Given the description of an element on the screen output the (x, y) to click on. 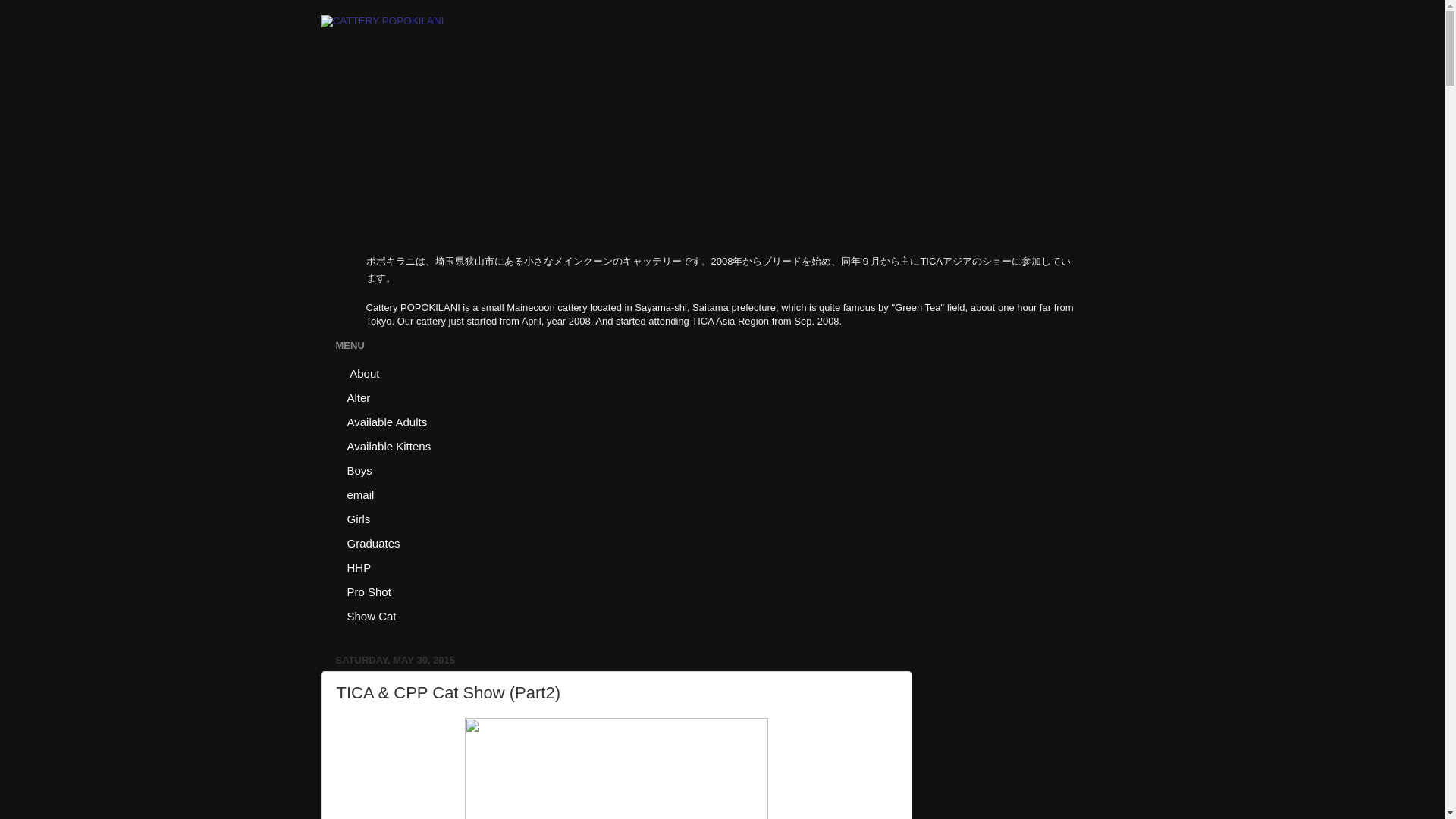
Graduates (373, 542)
Available Adults (386, 421)
HHP (358, 567)
Boys (359, 469)
Show Cat (370, 615)
email (359, 494)
Available Kittens (388, 445)
Alter (357, 396)
Girls (357, 518)
Pro Shot (368, 591)
About (362, 372)
